Given the description of an element on the screen output the (x, y) to click on. 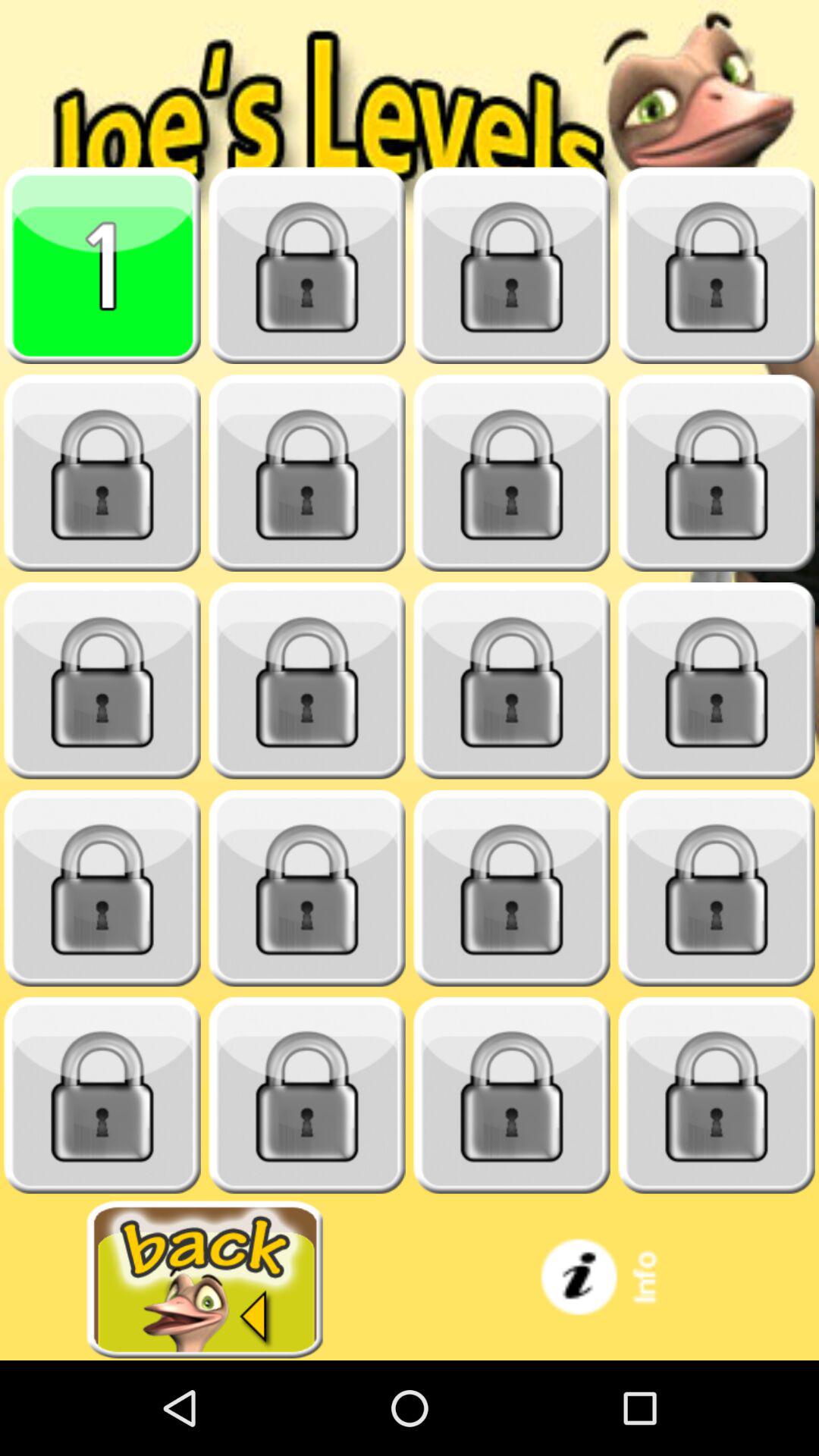
click lock button (306, 1094)
